Given the description of an element on the screen output the (x, y) to click on. 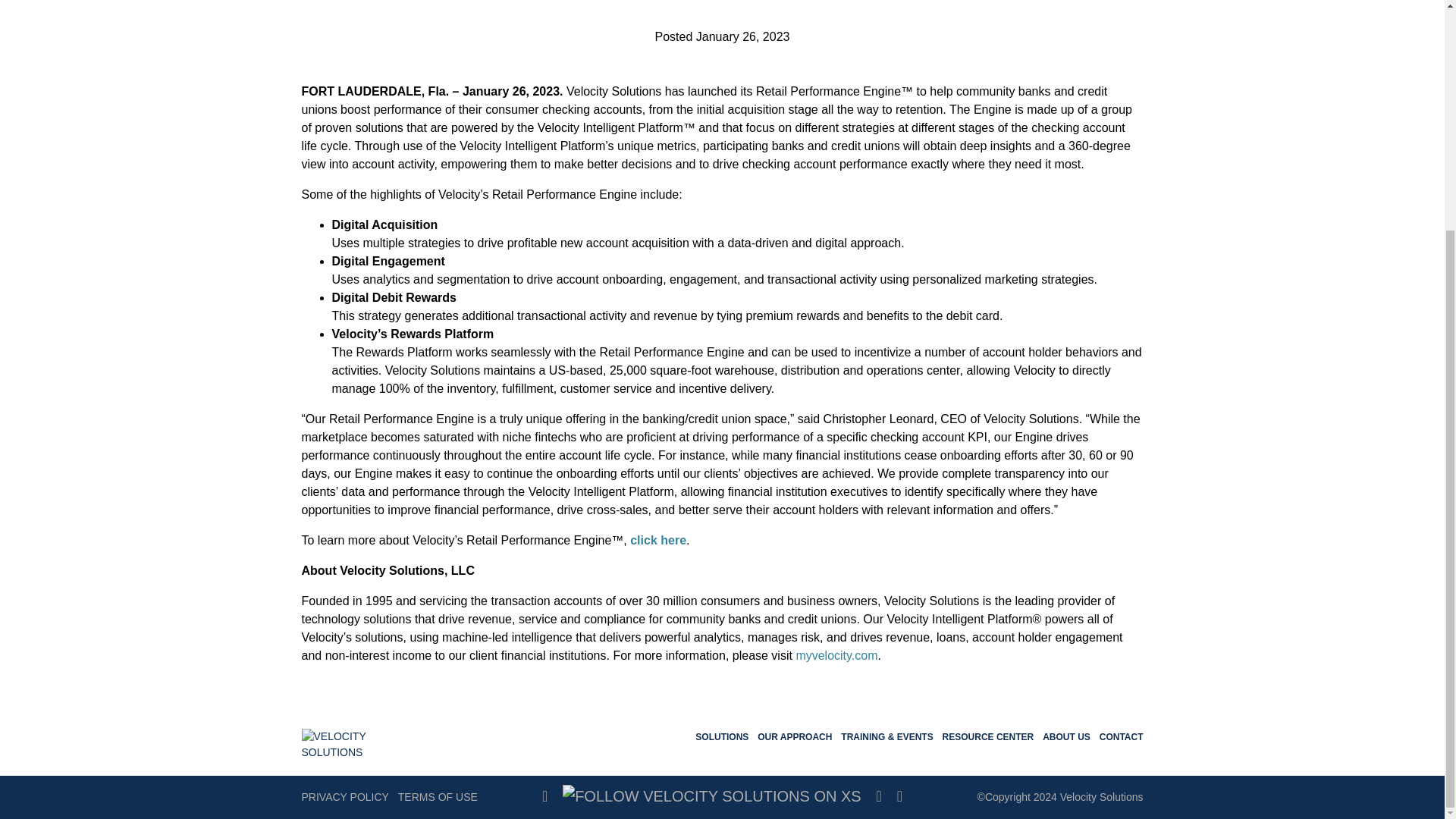
OUR APPROACH (794, 739)
myvelocity.com (835, 655)
SOLUTIONS (721, 739)
click here (657, 540)
Velocity Solutions on Twitter (711, 796)
Velocity Solutions (362, 743)
